Given the description of an element on the screen output the (x, y) to click on. 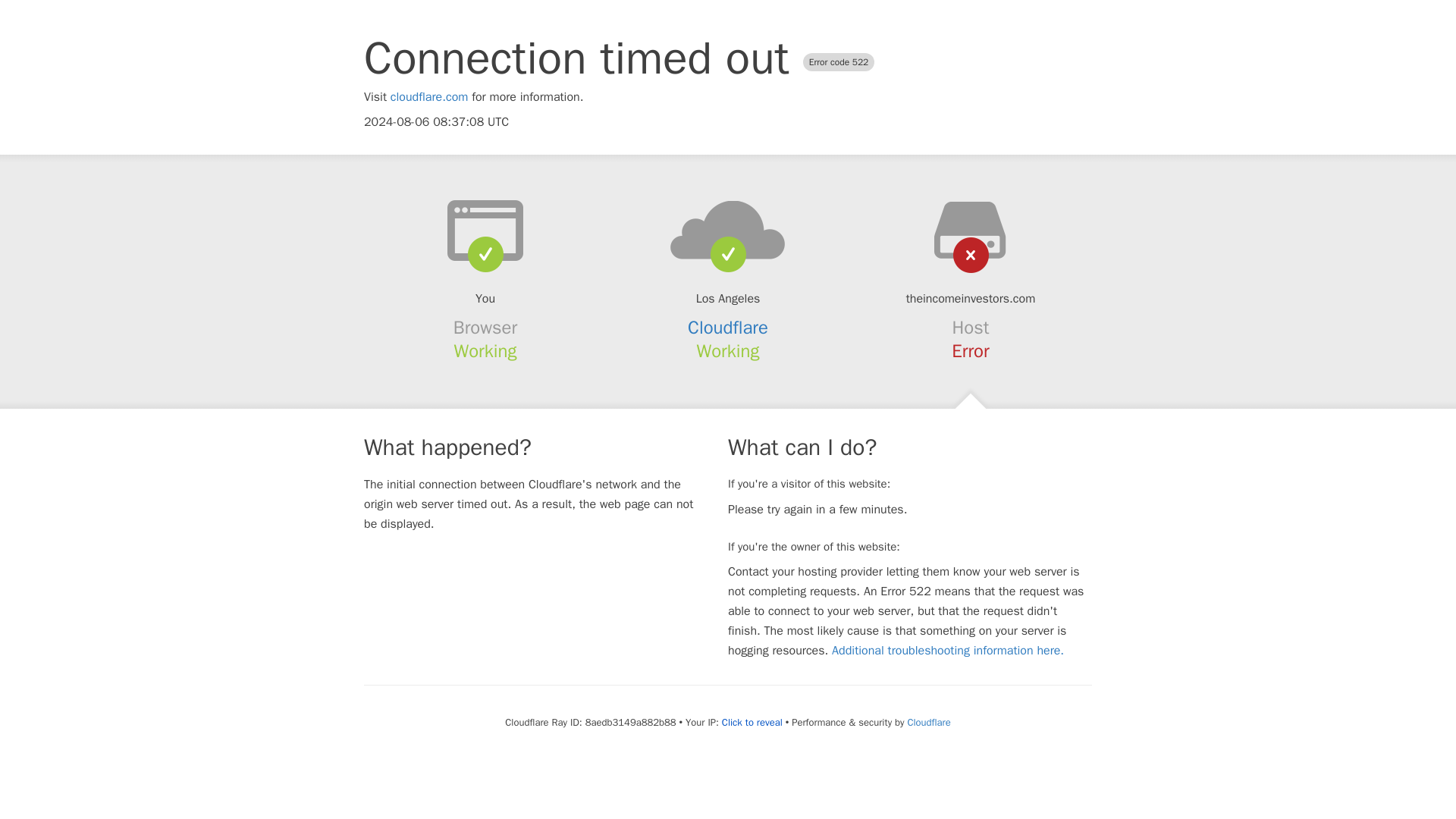
Cloudflare (727, 327)
Click to reveal (752, 722)
Additional troubleshooting information here. (947, 650)
Cloudflare (928, 721)
cloudflare.com (429, 96)
